Given the description of an element on the screen output the (x, y) to click on. 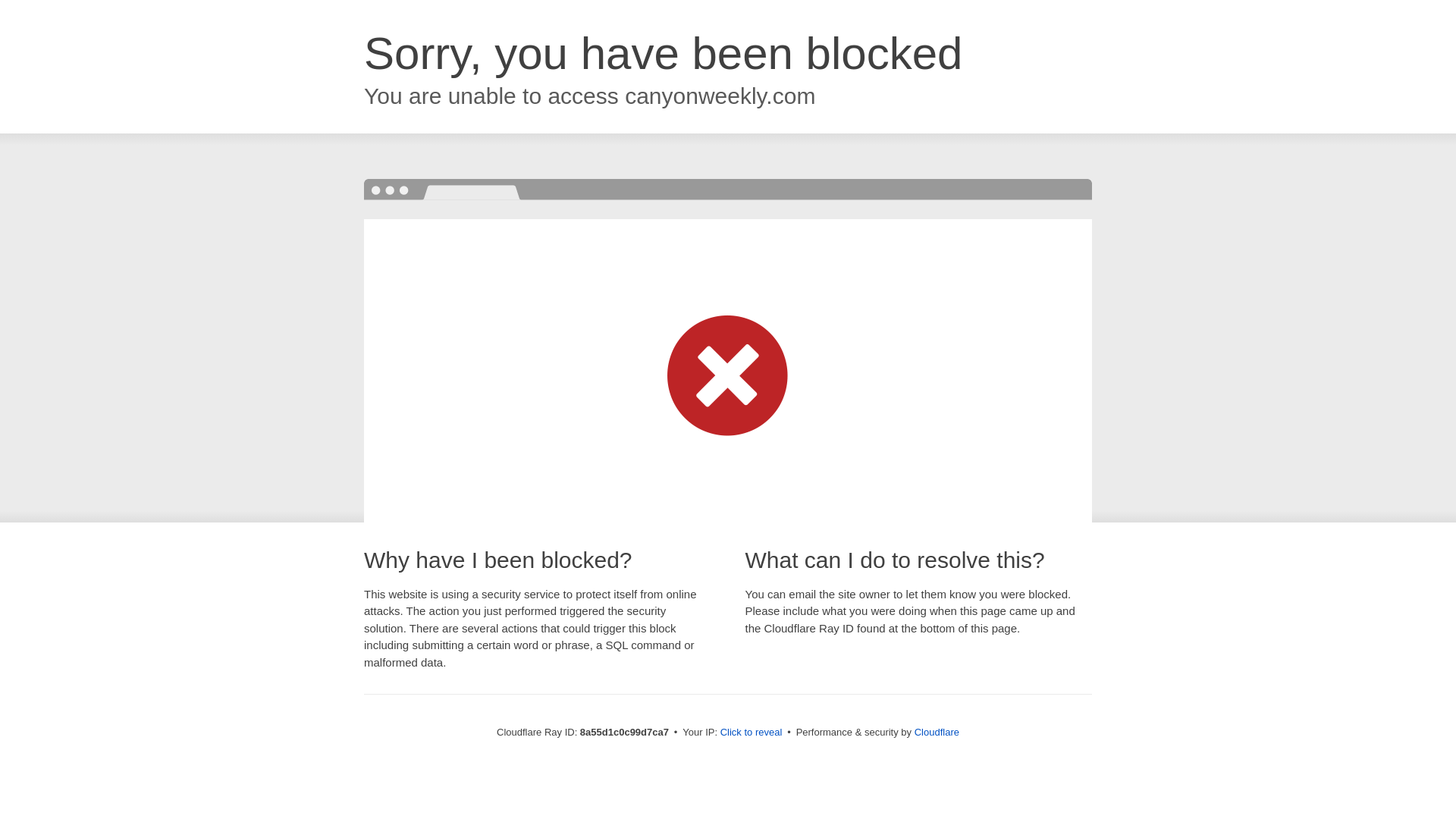
Cloudflare (936, 731)
Click to reveal (751, 732)
